Given the description of an element on the screen output the (x, y) to click on. 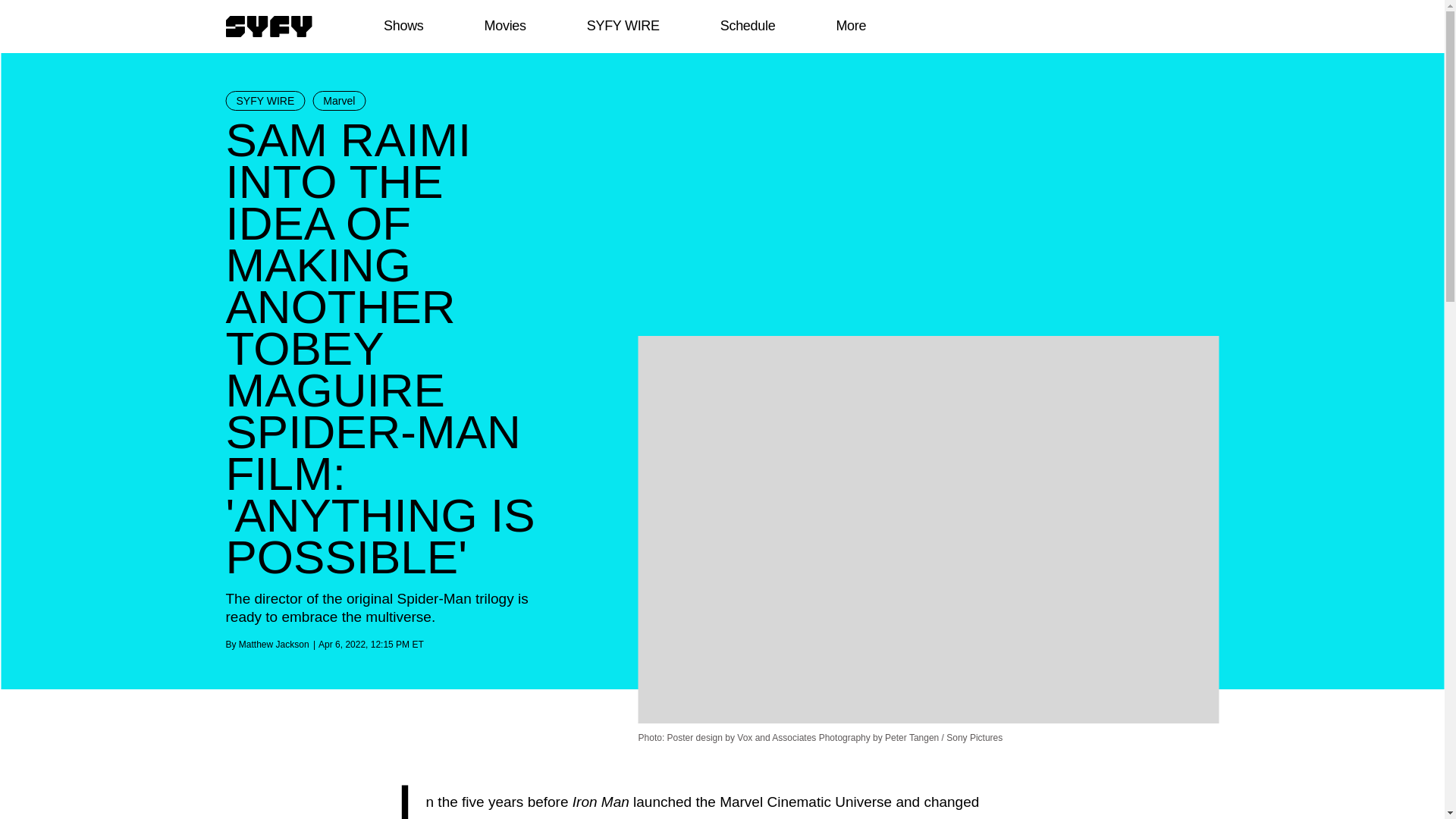
More (850, 26)
Marvel (339, 100)
Matthew Jackson (273, 644)
Shows (403, 26)
SYFY WIRE (265, 100)
Sam Raimi (641, 818)
Movies (504, 26)
Schedule (746, 26)
SYFY WIRE (622, 26)
